Given the description of an element on the screen output the (x, y) to click on. 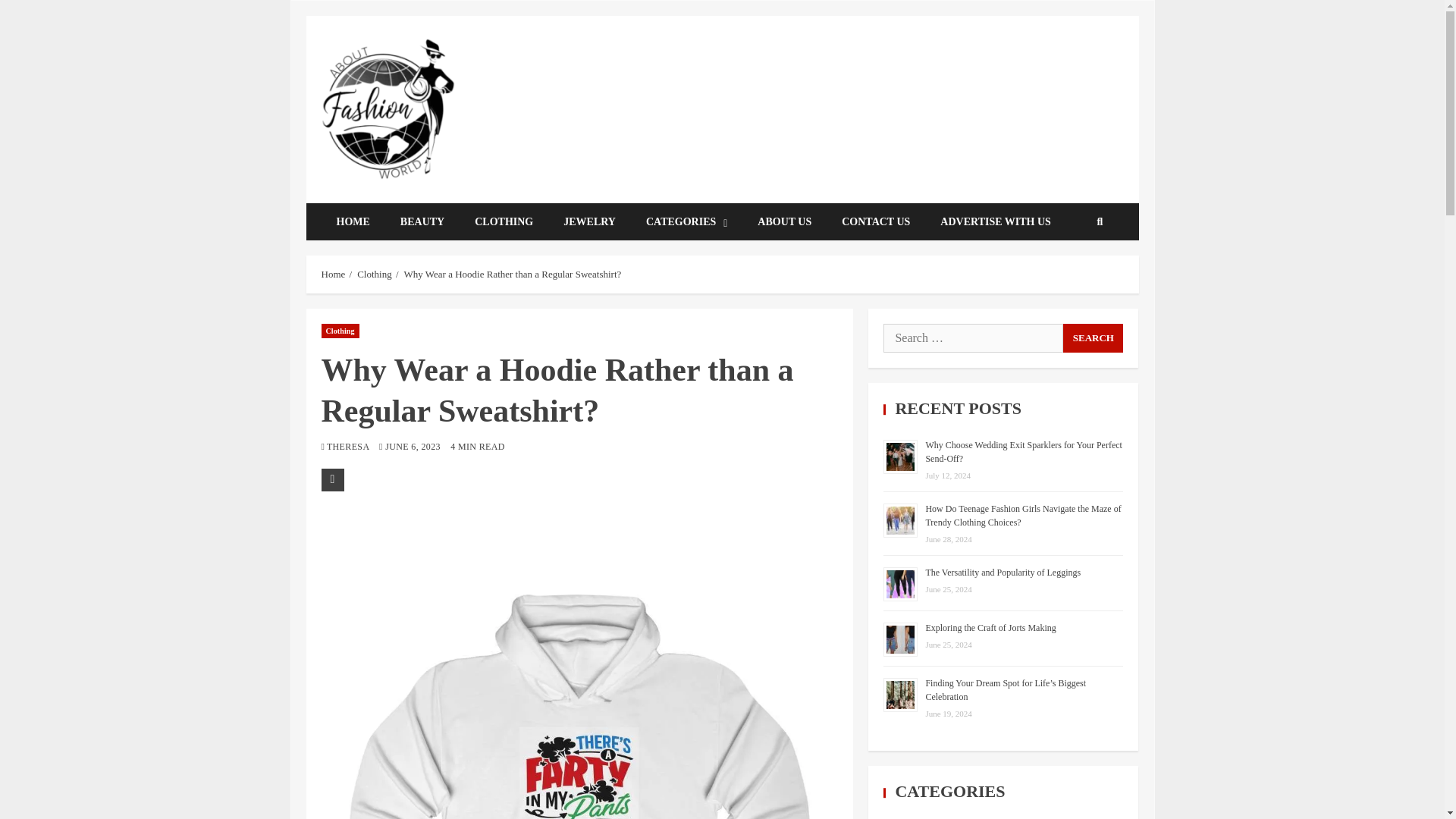
Clothing (340, 329)
Search (1092, 337)
Search (1076, 267)
Why Wear a Hoodie Rather than a Regular Sweatshirt? (512, 274)
HOME (353, 221)
Clothing (373, 274)
THERESA (348, 446)
Search (1099, 222)
ADVERTISE WITH US (994, 221)
CLOTHING (504, 221)
Search (1092, 337)
ABOUT US (784, 221)
BEAUTY (422, 221)
